Given the description of an element on the screen output the (x, y) to click on. 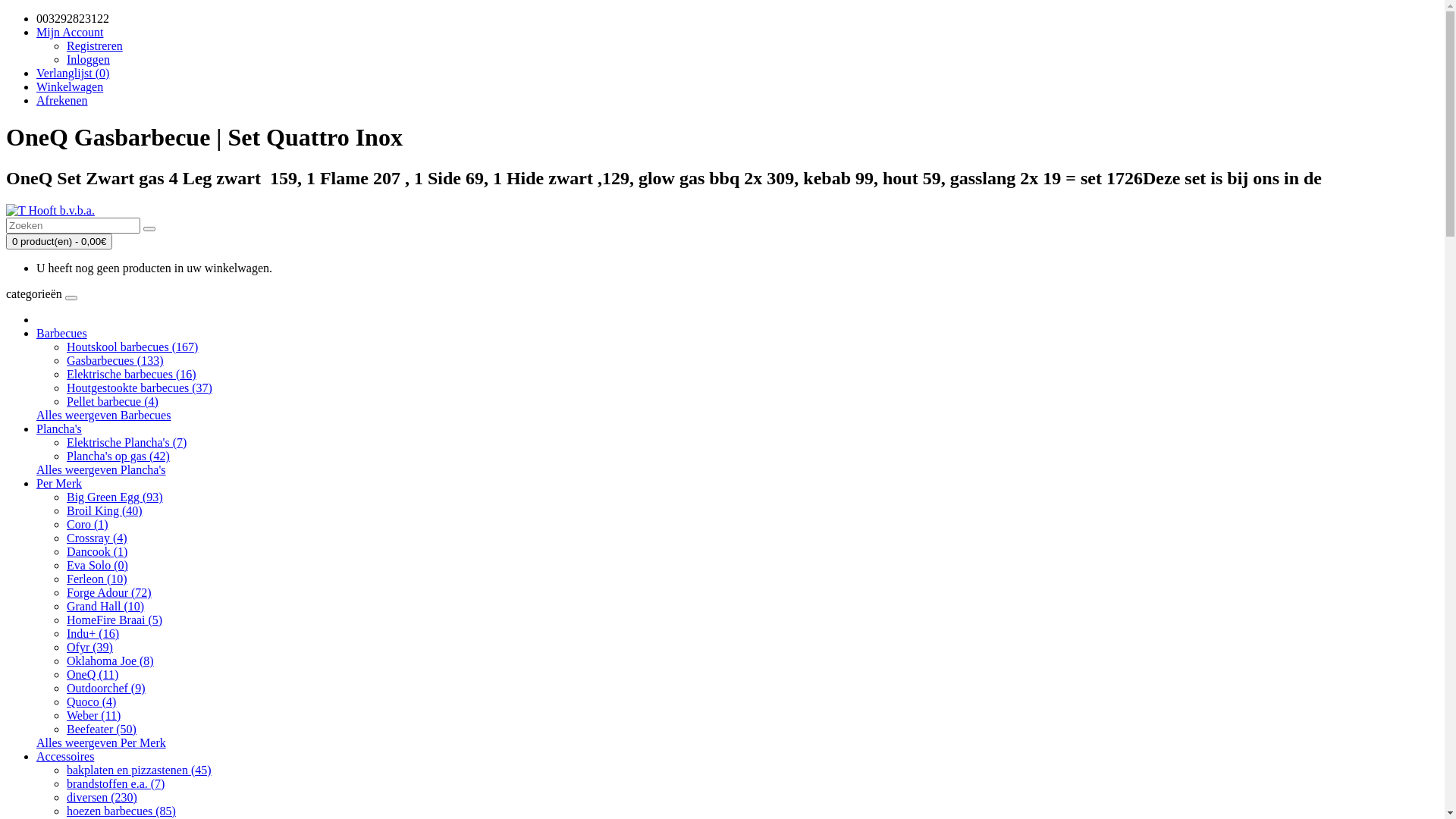
Crossray (4) Element type: text (96, 537)
Alles weergeven Barbecues Element type: text (103, 414)
Weber (11) Element type: text (93, 715)
Verlanglijst (0) Element type: text (72, 72)
Registreren Element type: text (94, 45)
Beefeater (50) Element type: text (101, 728)
Dancook (1) Element type: text (96, 551)
Plancha's Element type: text (58, 428)
Alles weergeven Plancha's Element type: text (101, 469)
Quoco (4) Element type: text (91, 701)
Mijn Account Element type: text (69, 31)
Plancha's op gas (42) Element type: text (117, 455)
brandstoffen e.a. (7) Element type: text (115, 783)
Alles weergeven Per Merk Element type: text (101, 742)
Big Green Egg (93) Element type: text (114, 496)
Winkelwagen Element type: text (69, 86)
Houtskool barbecues (167) Element type: text (131, 346)
OneQ (11) Element type: text (92, 674)
Elektrische Plancha's (7) Element type: text (126, 442)
Outdoorchef (9) Element type: text (105, 687)
HomeFire Braai (5) Element type: text (114, 619)
T Hooft b.v.b.a. Element type: hover (50, 210)
Gasbarbecues (133) Element type: text (114, 360)
Houtgestookte barbecues (37) Element type: text (139, 387)
Forge Adour (72) Element type: text (108, 592)
Afrekenen Element type: text (61, 100)
Coro (1) Element type: text (87, 523)
bakplaten en pizzastenen (45) Element type: text (138, 769)
Oklahoma Joe (8) Element type: text (109, 660)
Elektrische barbecues (16) Element type: text (131, 373)
Barbecues Element type: text (61, 332)
Broil King (40) Element type: text (104, 510)
Pellet barbecue (4) Element type: text (112, 401)
Grand Hall (10) Element type: text (105, 605)
hoezen barbecues (85) Element type: text (120, 810)
Eva Solo (0) Element type: text (97, 564)
Ferleon (10) Element type: text (96, 578)
Accessoires Element type: text (65, 755)
Inloggen Element type: text (87, 59)
Per Merk Element type: text (58, 482)
Ofyr (39) Element type: text (89, 646)
Indu+ (16) Element type: text (92, 633)
diversen (230) Element type: text (101, 796)
